Given the description of an element on the screen output the (x, y) to click on. 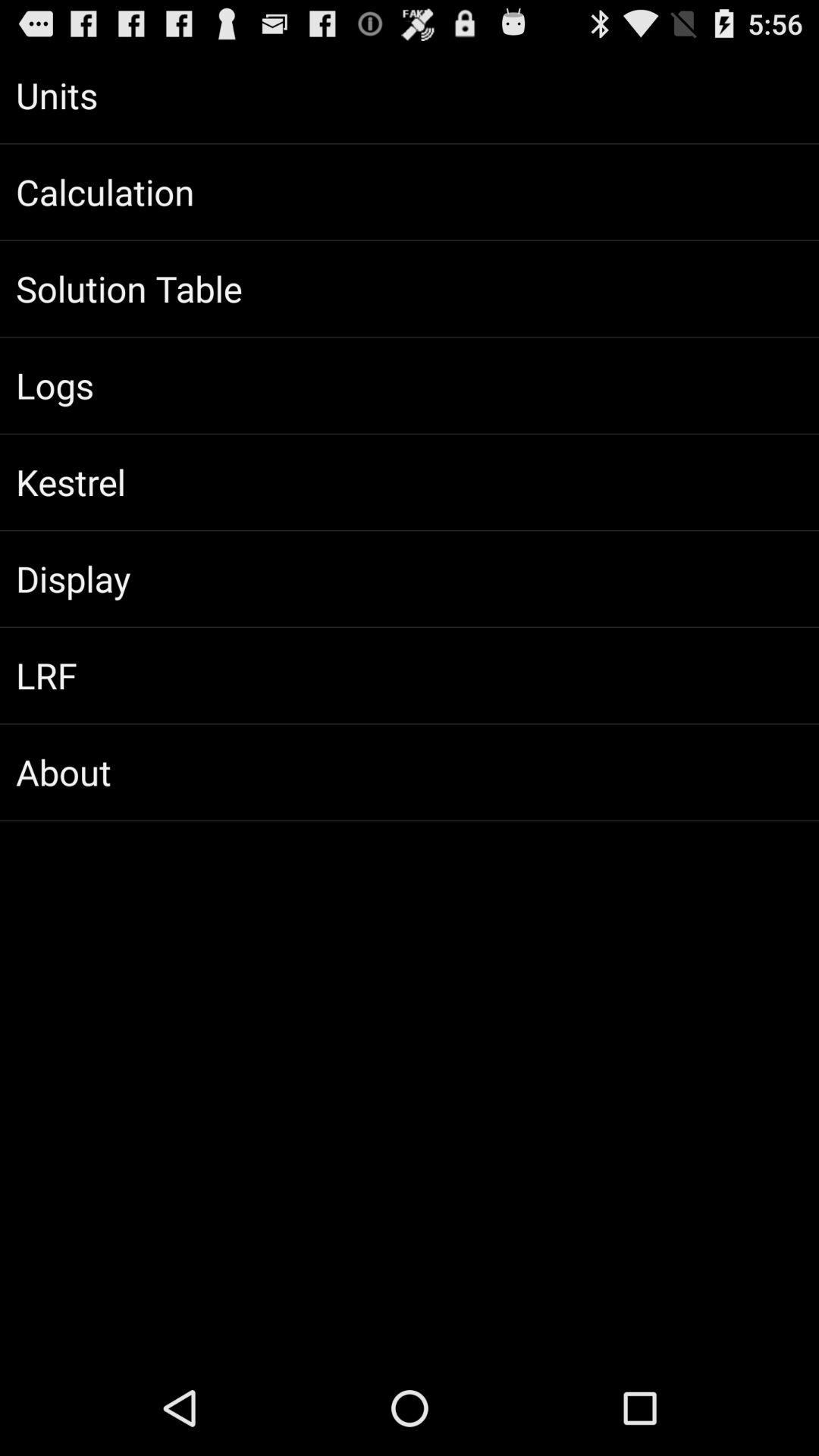
click the item above logs item (409, 288)
